Given the description of an element on the screen output the (x, y) to click on. 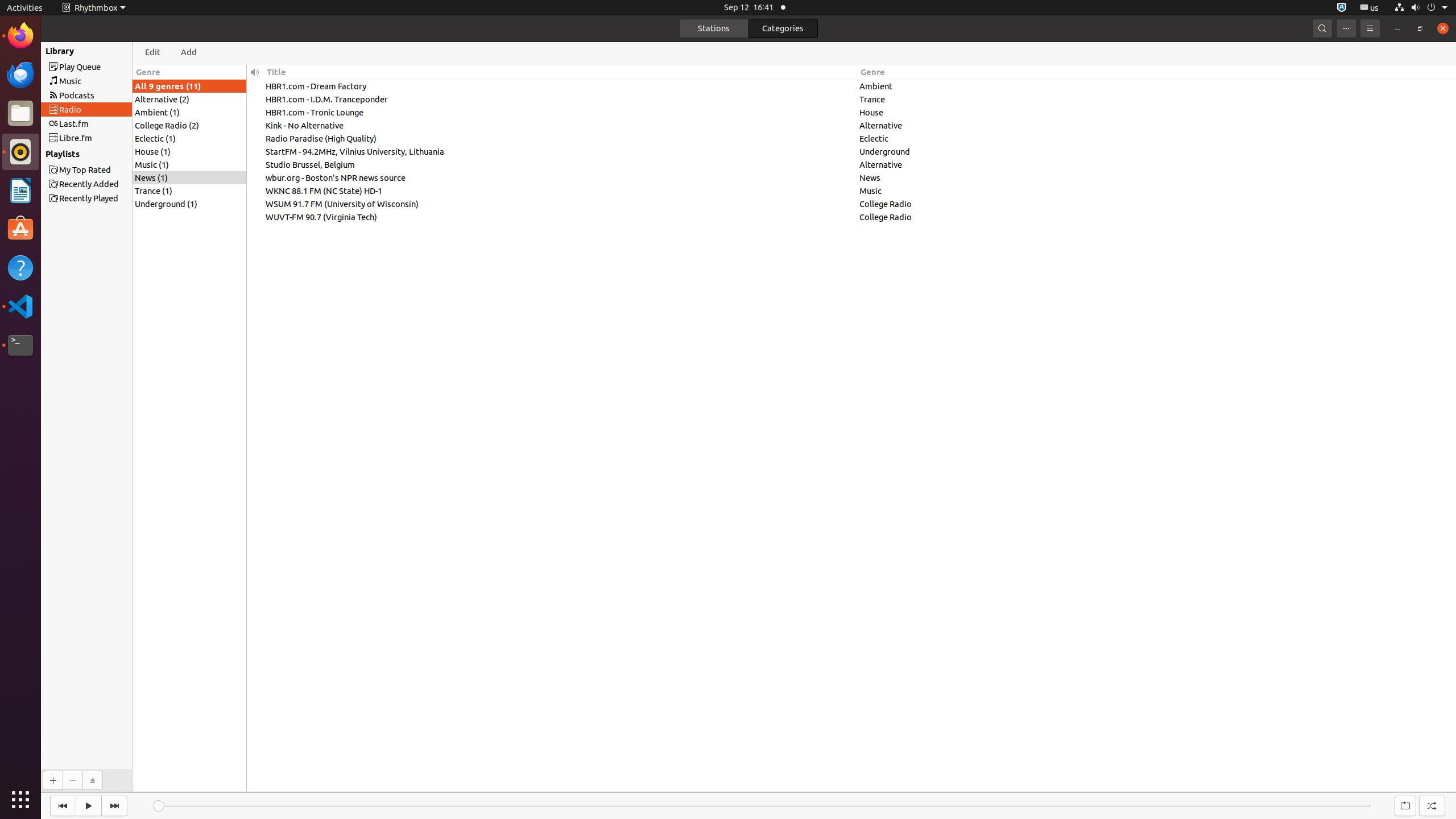
Playlists Element type: table-cell (53, 153)
11 stations Element type: label (1425, 783)
Libre.fm Element type: table-cell (106, 137)
Title Element type: table-column-header (560, 72)
